Given the description of an element on the screen output the (x, y) to click on. 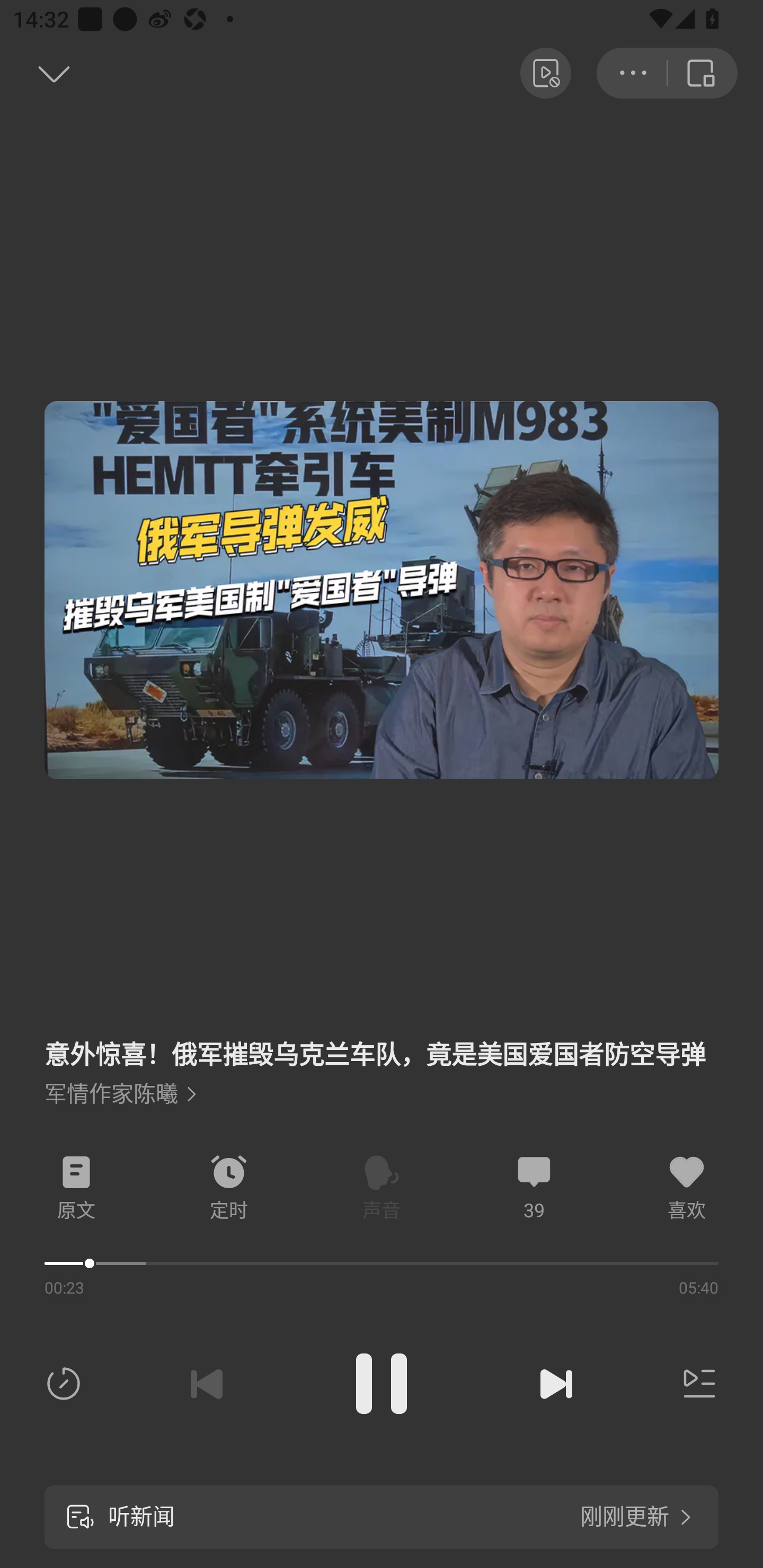
返回 (35, 72)
更多 (631, 72)
返回 (702, 72)
27万 “真正信心”号货船遇袭，胡塞武装紧急发声 知味资讯1分钟前 07:30 (381, 1086)
军情作家陈曦 (120, 1094)
原文 (76, 1188)
定时，按钮 定时 (228, 1188)
声音，音色按钮 声音 (381, 1188)
39条评论，按钮 39 (533, 1188)
喜欢，按钮 喜欢 (686, 1188)
236万 让严重资不抵债的房企破产，释放什么信号？楼市大变局 强老师儿1分钟前 08:01 (381, 1286)
暂停 (381, 1383)
倍速，按钮 (67, 1383)
列表，按钮 (695, 1383)
听新闻 刚刚更新 (381, 1516)
